Given the description of an element on the screen output the (x, y) to click on. 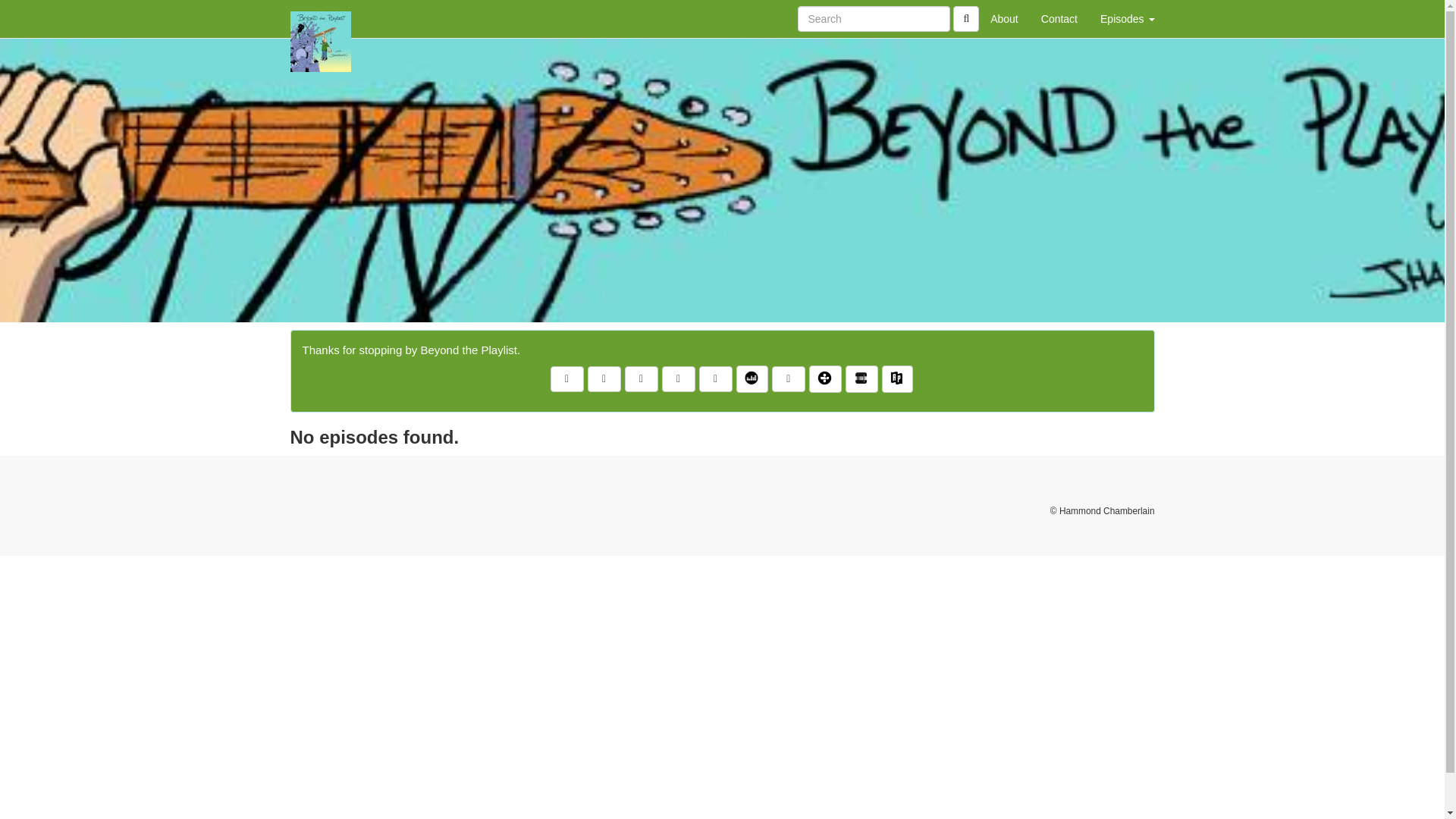
About (1003, 18)
Contact (1059, 18)
Episodes (1127, 18)
Home Page (320, 18)
